Given the description of an element on the screen output the (x, y) to click on. 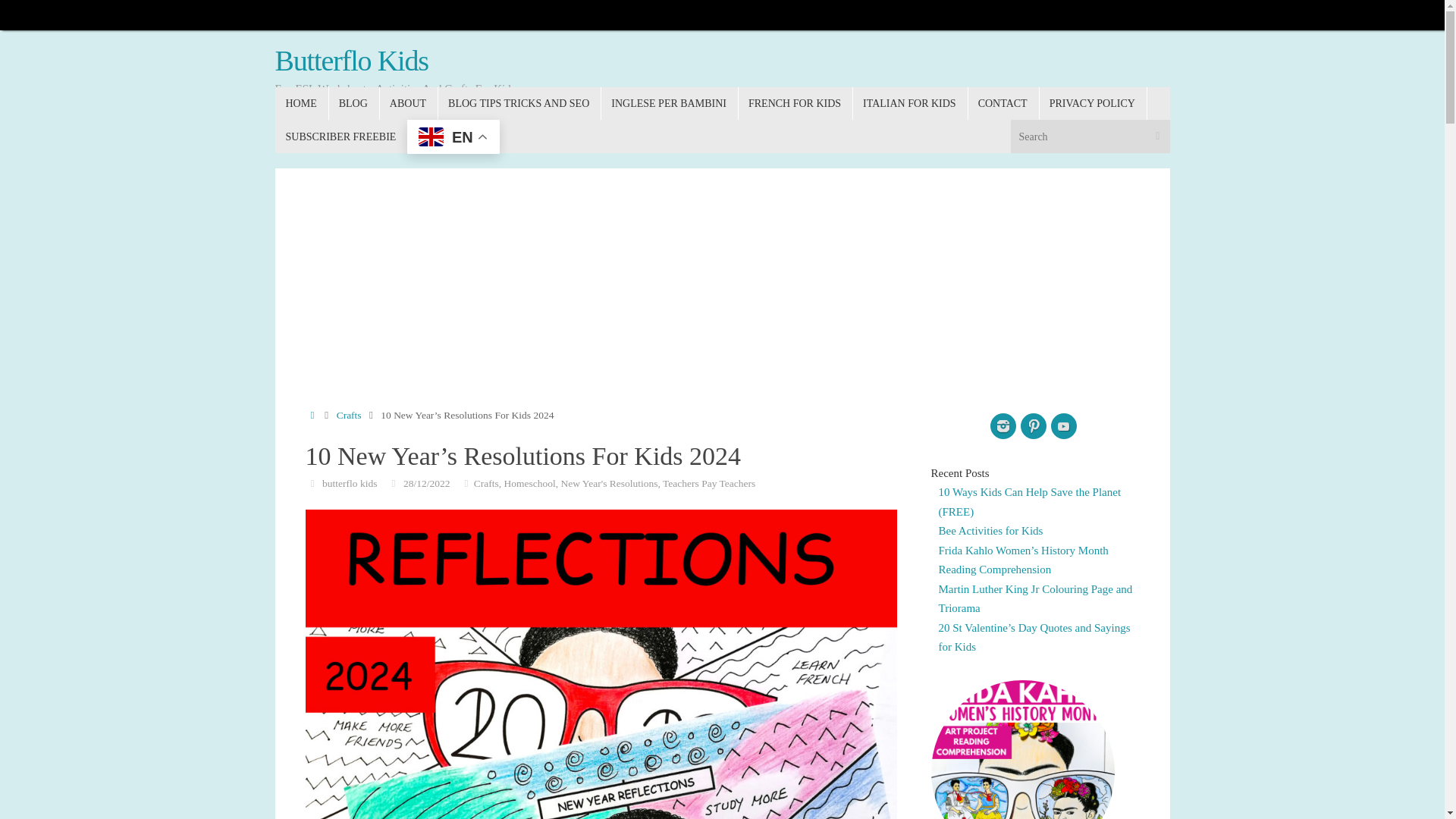
ABOUT (408, 102)
HOME (301, 102)
YOUTUBE (1064, 425)
Categories (467, 482)
Date (392, 482)
BLOG TIPS TRICKS AND SEO (518, 102)
Author  (311, 482)
Crafts (348, 414)
Butterflo Kids (351, 60)
ITALIAN FOR KIDS (909, 102)
PRIVACY POLICY (1093, 102)
SUBSCRIBER FREEBIE (341, 135)
INGLESE PER BAMBINI (668, 102)
Butterflo Kids (351, 60)
Teachers Pay Teachers (708, 482)
